Given the description of an element on the screen output the (x, y) to click on. 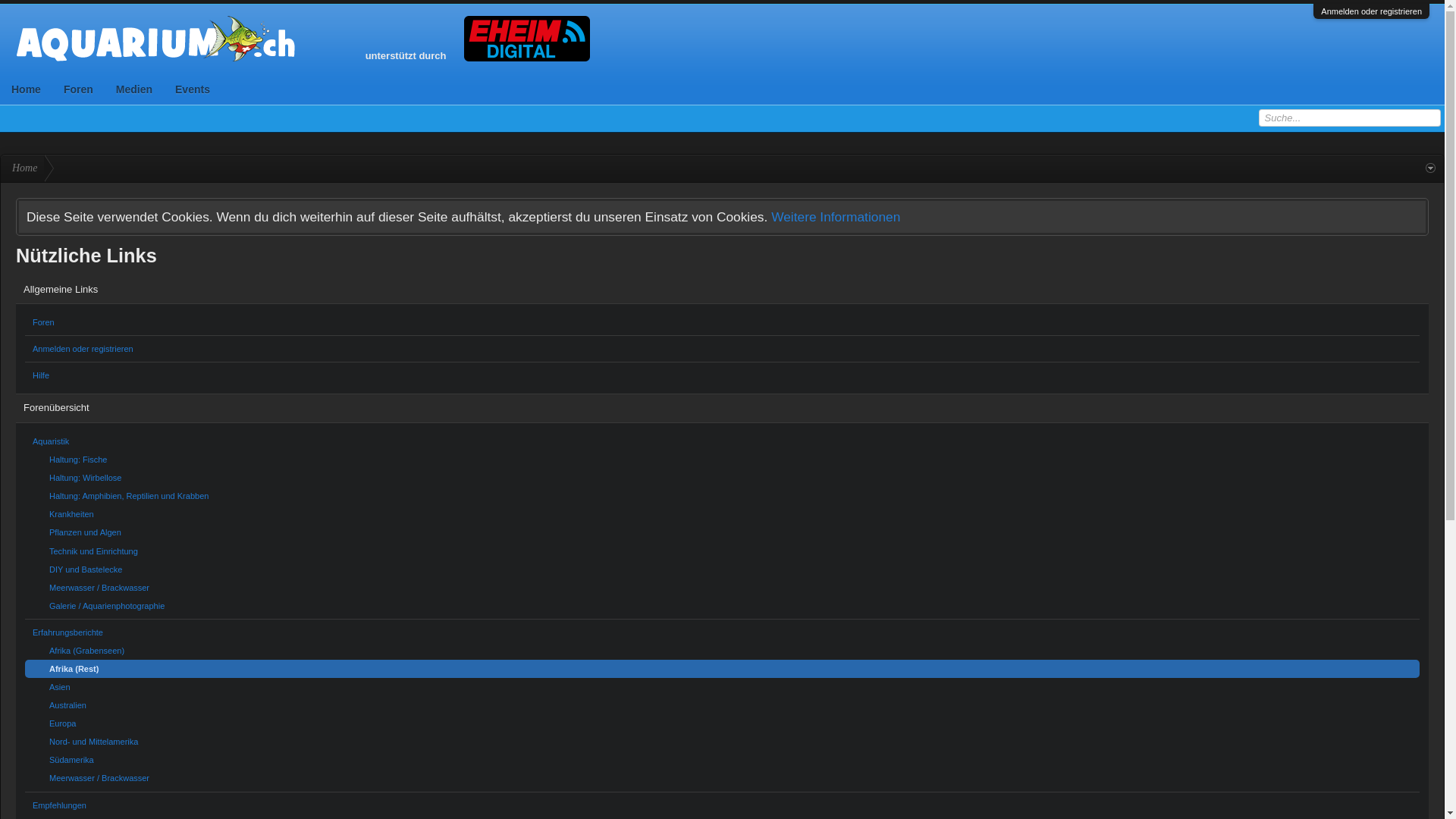
Haltung: Wirbellose Element type: text (722, 477)
Meerwasser / Brackwasser Element type: text (722, 587)
Weitere Informationen Element type: text (835, 216)
Home Element type: text (26, 89)
Afrika (Rest) Element type: text (722, 668)
Asien Element type: text (722, 686)
Events Element type: text (192, 89)
Krankheiten Element type: text (722, 514)
Haltung: Fische Element type: text (722, 459)
Anmelden oder registrieren Element type: text (722, 348)
Gib deine Suche ein und verwende die Eingabetaste Element type: hover (1349, 117)
Europa Element type: text (722, 723)
Haltung: Amphibien, Reptilien und Krabben Element type: text (722, 495)
Empfehlungen Element type: text (722, 805)
Aquaristik Element type: text (722, 441)
Pflanzen und Algen Element type: text (722, 532)
Hilfe Element type: text (722, 375)
Meerwasser / Brackwasser Element type: text (722, 777)
Technik und Einrichtung Element type: text (722, 551)
Medien Element type: text (133, 89)
Galerie / Aquarienphotographie Element type: text (722, 605)
Anmelden oder registrieren Element type: text (1371, 10)
DIY und Bastelecke Element type: text (722, 569)
Afrika (Grabenseen) Element type: text (722, 650)
Foren Element type: text (78, 89)
Erfahrungsberichte Element type: text (722, 632)
Australien Element type: text (722, 705)
Home Element type: text (22, 168)
Nord- und Mittelamerika Element type: text (722, 741)
Foren Element type: text (722, 322)
